Given the description of an element on the screen output the (x, y) to click on. 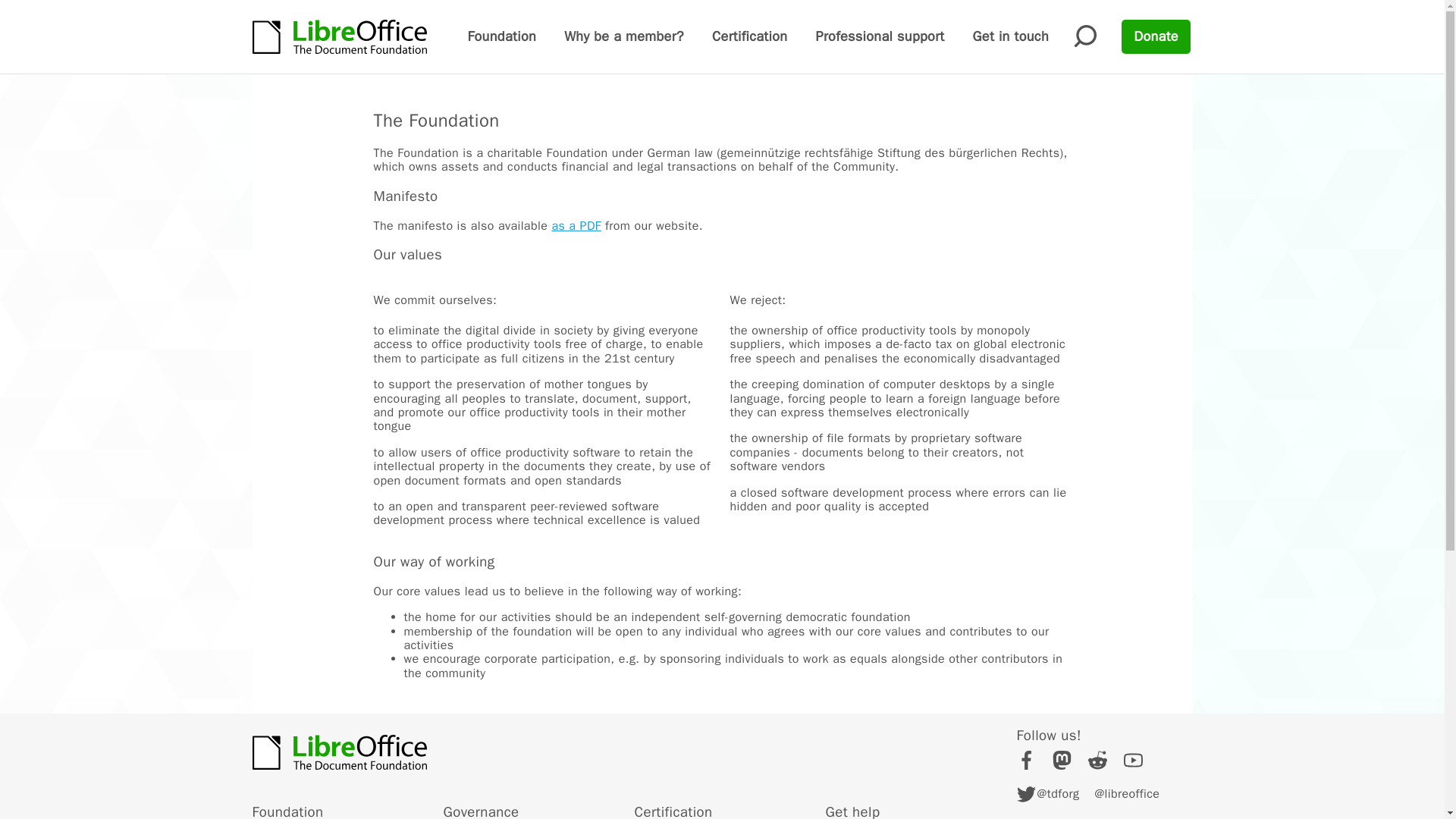
Donate (1156, 36)
TDF Manifesto (576, 225)
LibreOffice (338, 751)
Professional support (879, 36)
LibreOffice (338, 36)
Why be a member? (624, 36)
Foundation (501, 36)
Certification (749, 36)
as a PDF (576, 225)
Get in touch (1010, 36)
